Given the description of an element on the screen output the (x, y) to click on. 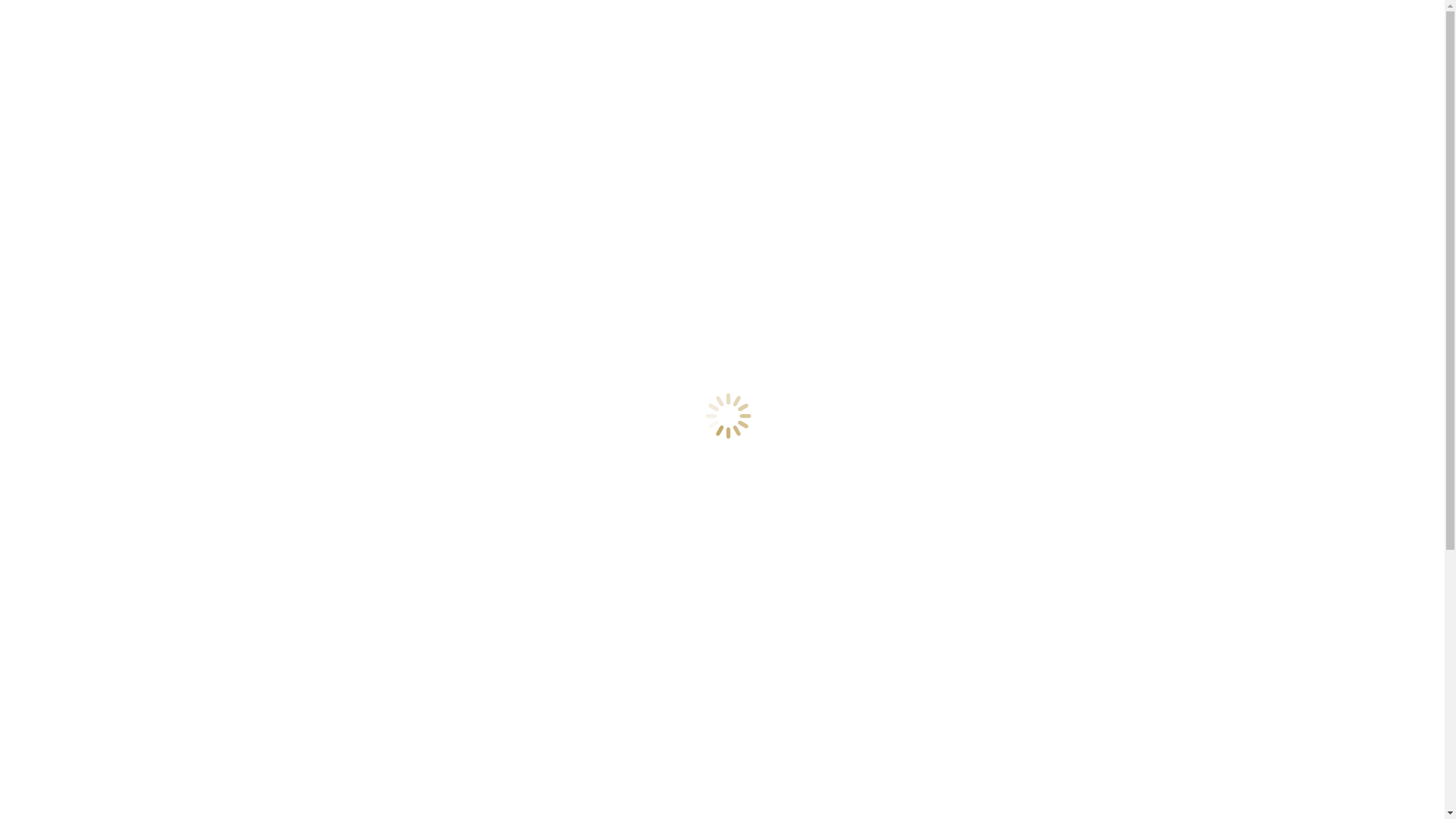
RESERVEER HIER Element type: text (83, 261)
Facebook page opens in new window Element type: text (97, 287)
Nieuws Element type: text (54, 234)
De Abdij Element type: text (58, 220)
Onze producten Element type: text (74, 206)
Nieuws Element type: text (54, 354)
Contact Element type: text (55, 247)
Contact Element type: text (55, 367)
Onze producten Element type: text (74, 326)
NL Element type: text (52, 37)
Het Moment Element type: text (66, 313)
Instagram page opens in new window Element type: text (279, 287)
Het Moment Element type: text (66, 193)
Skip to content Element type: text (42, 12)
EN Element type: text (52, 51)
Reserveer Hier Element type: text (72, 381)
FR Element type: text (51, 65)
Go! Element type: text (808, 597)
De Abdij Element type: text (58, 340)
